Given the description of an element on the screen output the (x, y) to click on. 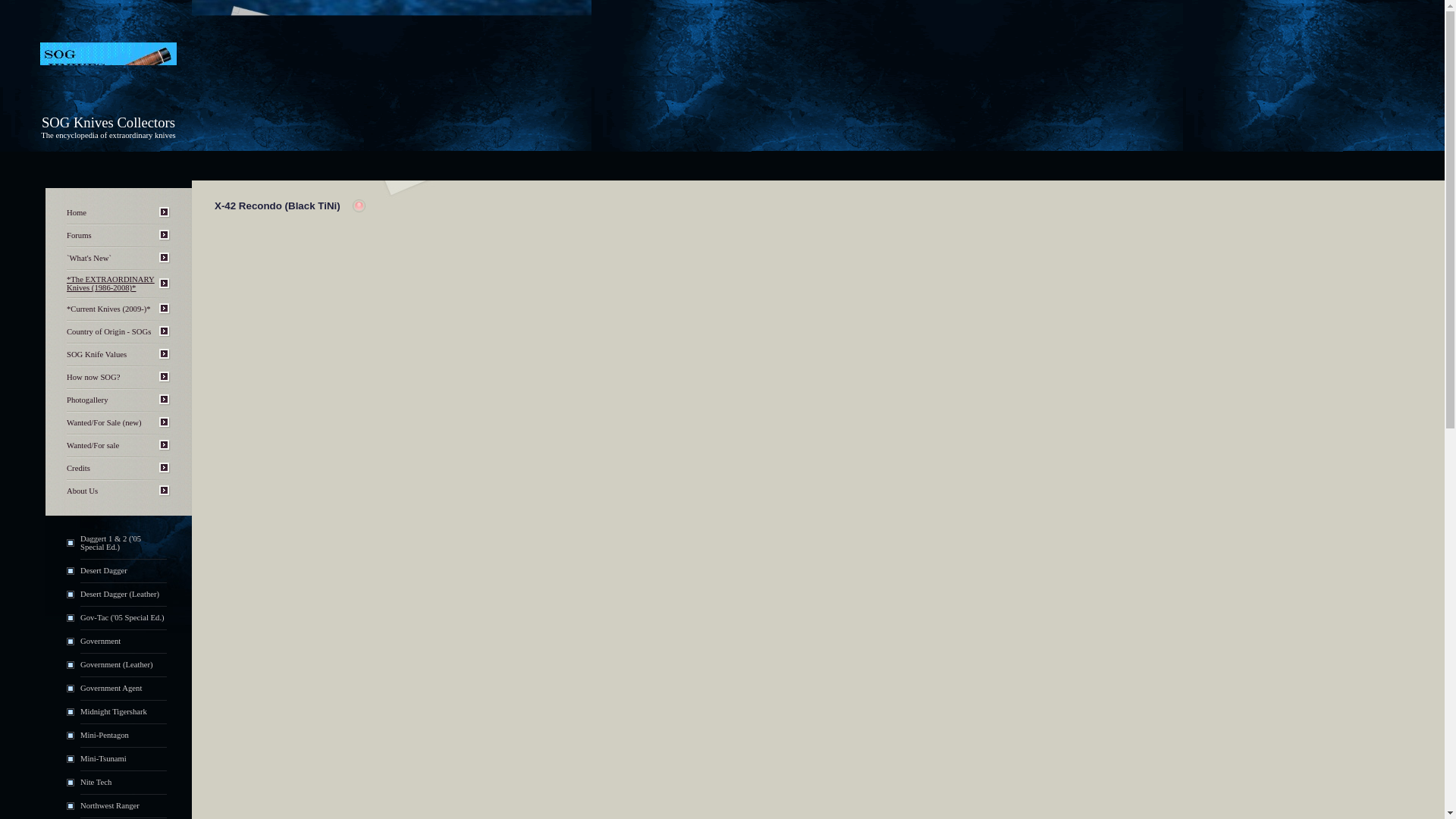
SOG Knife Values (96, 354)
Midnight Tigershark (113, 711)
Forums (78, 234)
Government Agent (110, 687)
Home (75, 212)
Northwest Ranger (109, 805)
How now SOG? (92, 377)
Photogallery (86, 399)
Mini-Tsunami (103, 758)
Government (100, 641)
Nite Tech (96, 782)
Country of Origin - SOGs (108, 331)
Mini-Pentagon (104, 735)
Credits (78, 468)
About Us (81, 490)
